Given the description of an element on the screen output the (x, y) to click on. 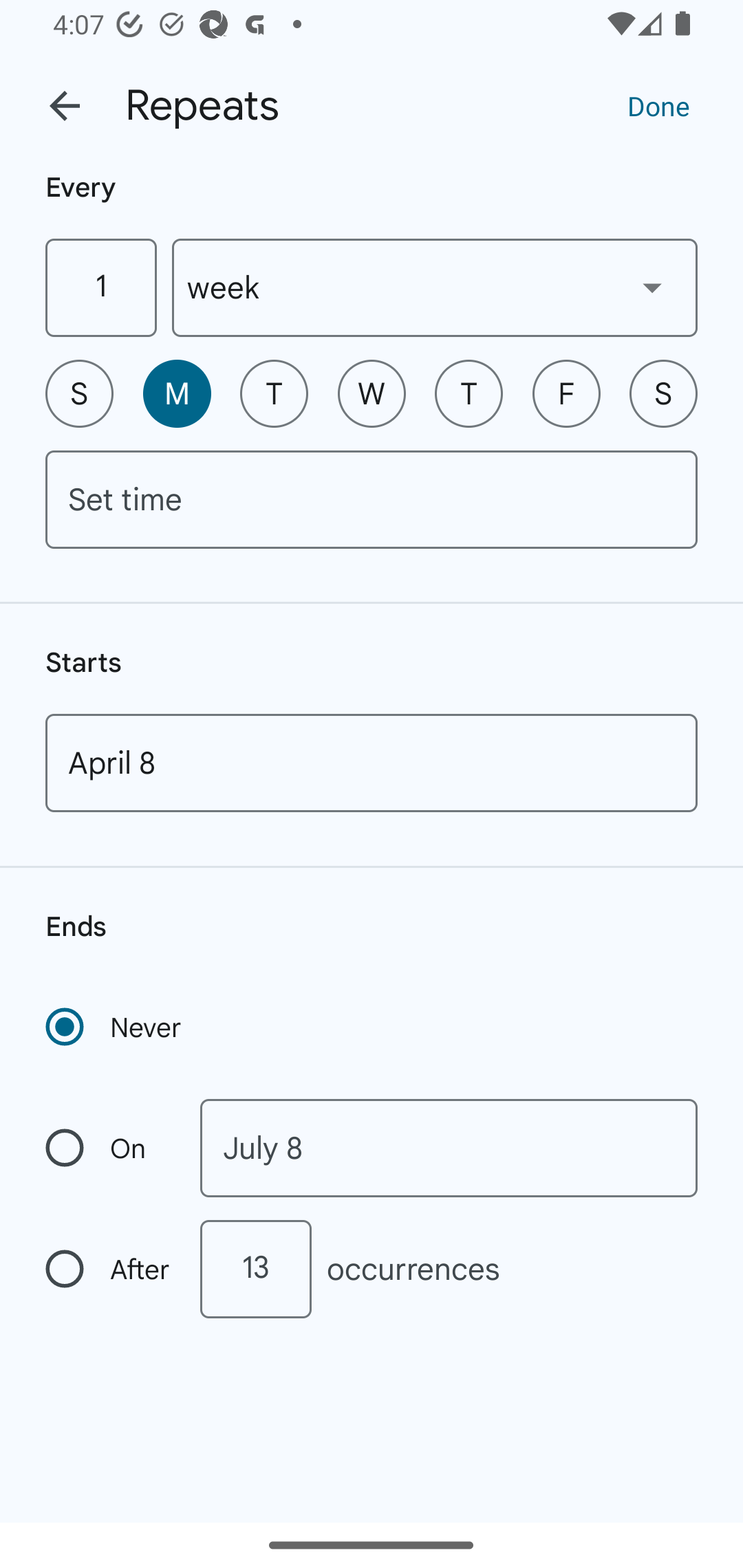
Back (64, 105)
Done (658, 105)
1 (100, 287)
week (434, 287)
Show dropdown menu (652, 286)
S Sunday (79, 393)
M Monday, selected (177, 393)
T Tuesday (273, 393)
W Wednesday (371, 393)
T Thursday (468, 393)
F Friday (566, 393)
S Saturday (663, 393)
Set time (371, 499)
April 8 (371, 762)
Never Recurrence never ends (115, 1026)
July 8 (448, 1148)
On Recurrence ends on a specific date (109, 1148)
13 (255, 1268)
